Given the description of an element on the screen output the (x, y) to click on. 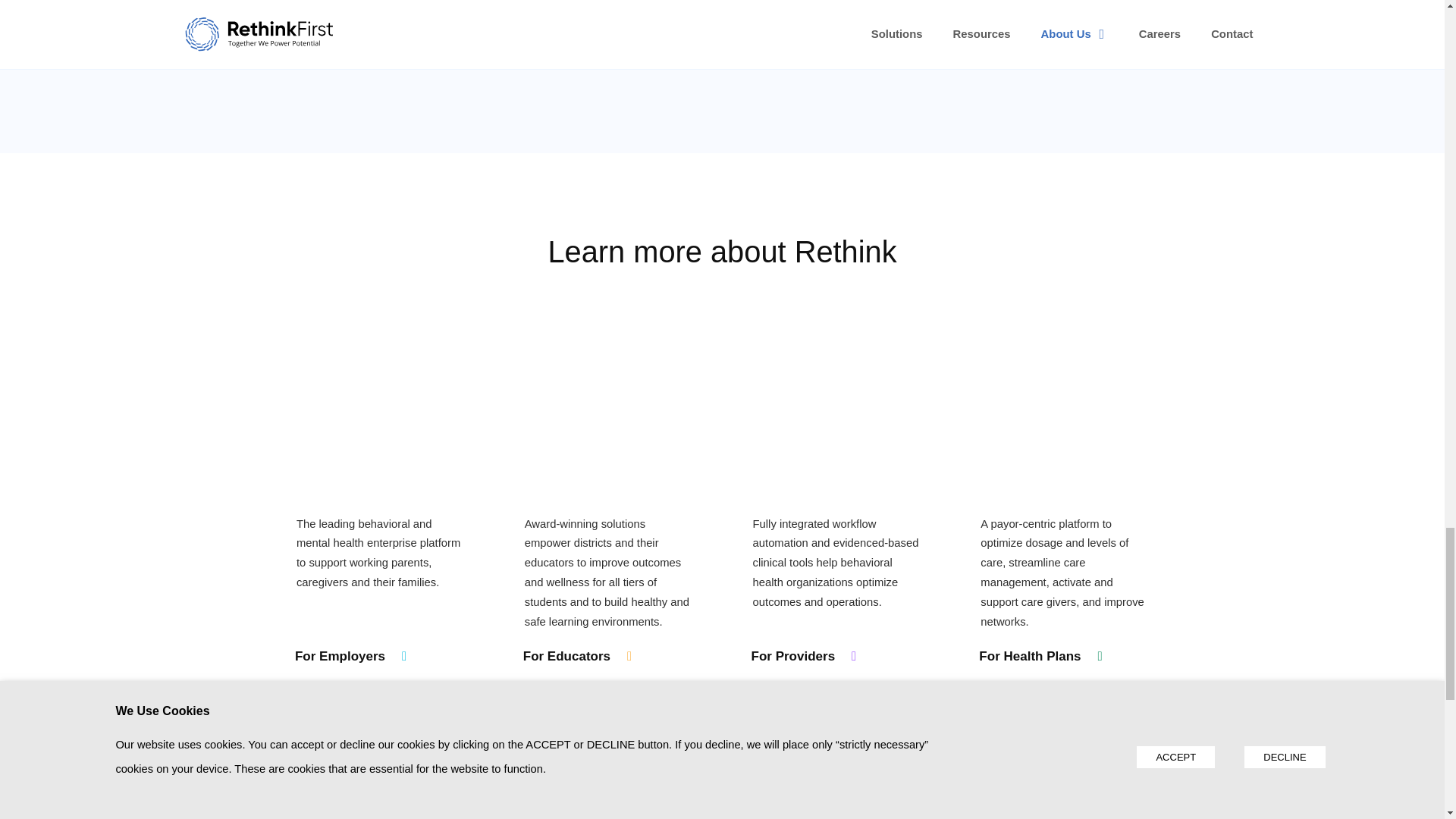
For Educators (577, 656)
For Employers (351, 656)
